Given the description of an element on the screen output the (x, y) to click on. 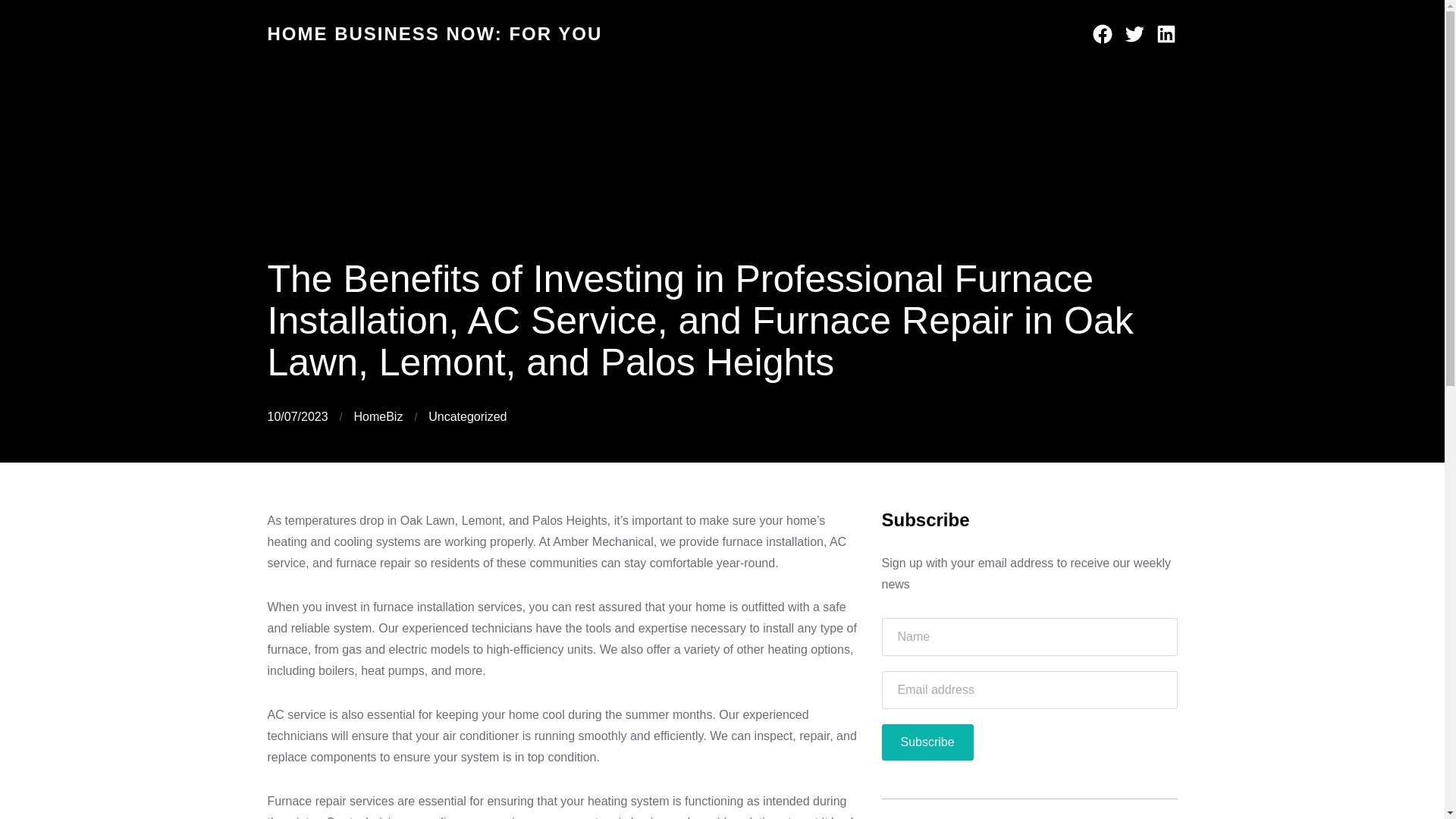
LinkedIn (1165, 33)
HOME BUSINESS NOW: FOR YOU (434, 33)
Uncategorized (467, 416)
Subscribe (926, 741)
Twitter (1133, 33)
Facebook (1101, 33)
Subscribe (926, 741)
